Given the description of an element on the screen output the (x, y) to click on. 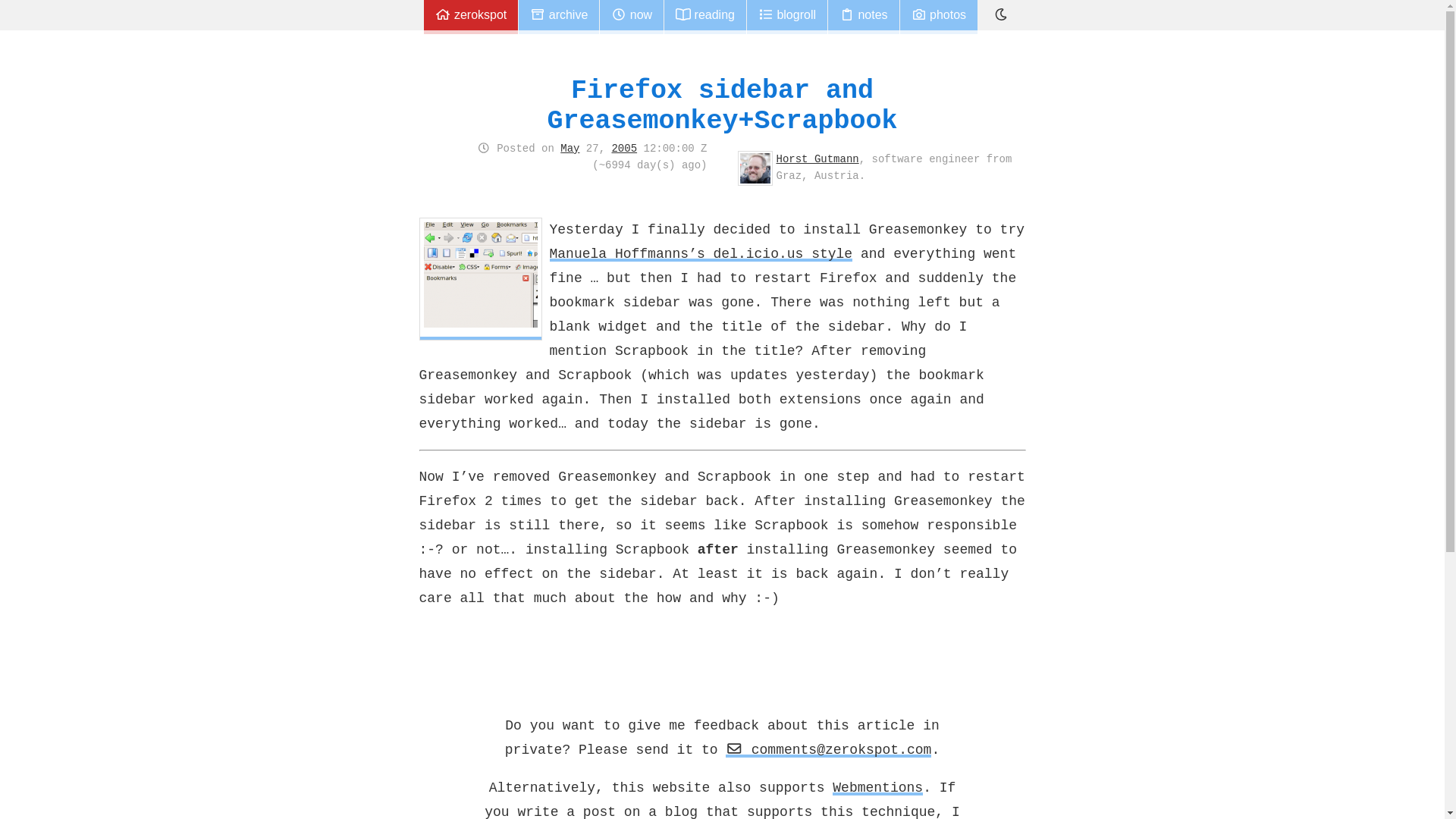
reading (704, 17)
Webmentions (877, 787)
notes (863, 17)
now (631, 17)
blogroll (786, 17)
Horst Gutmann (817, 159)
zerokspot (470, 17)
photos (937, 17)
May (569, 148)
archive (558, 17)
2005 (624, 148)
